Given the description of an element on the screen output the (x, y) to click on. 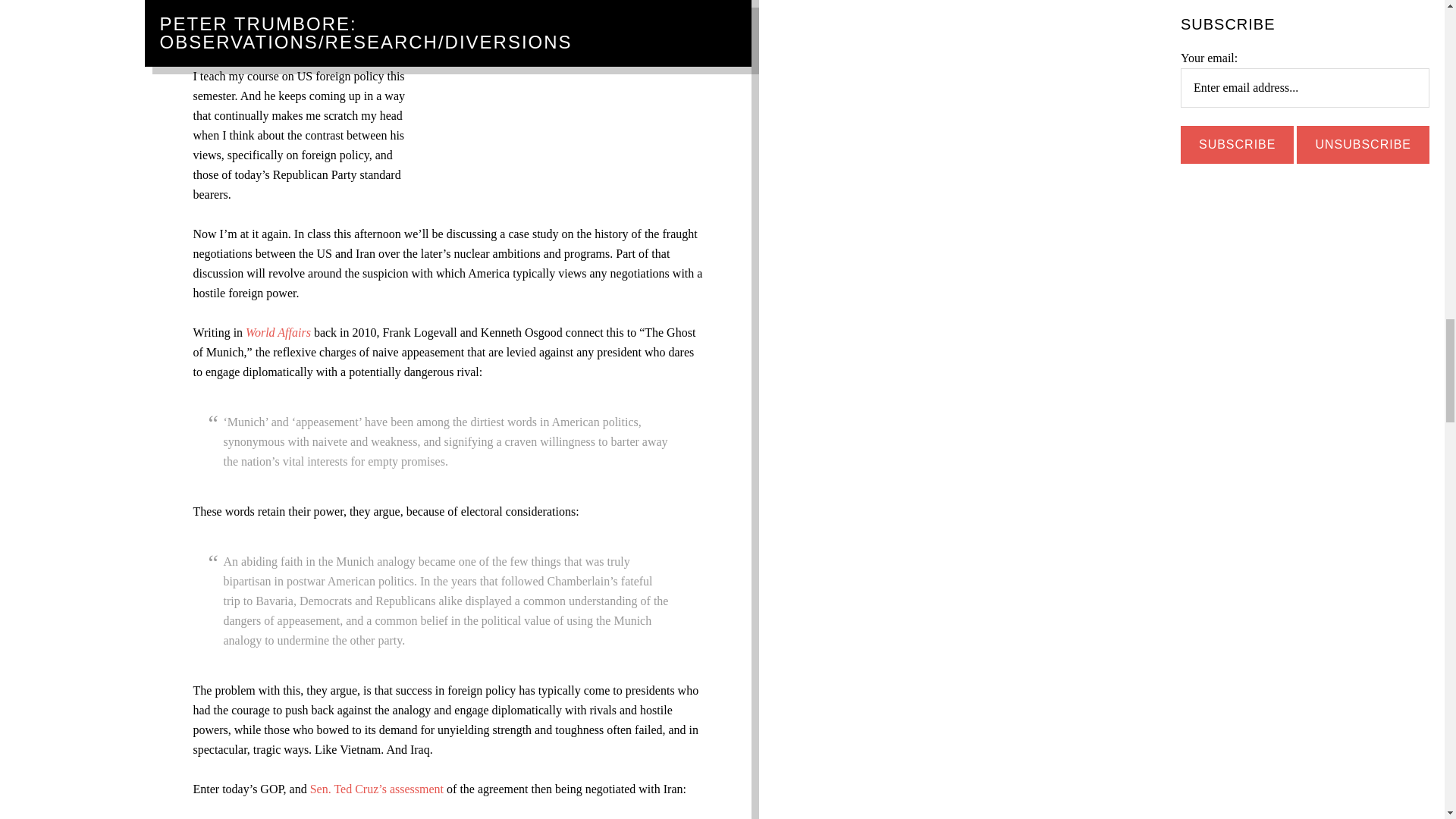
World Affairs (278, 332)
